Given the description of an element on the screen output the (x, y) to click on. 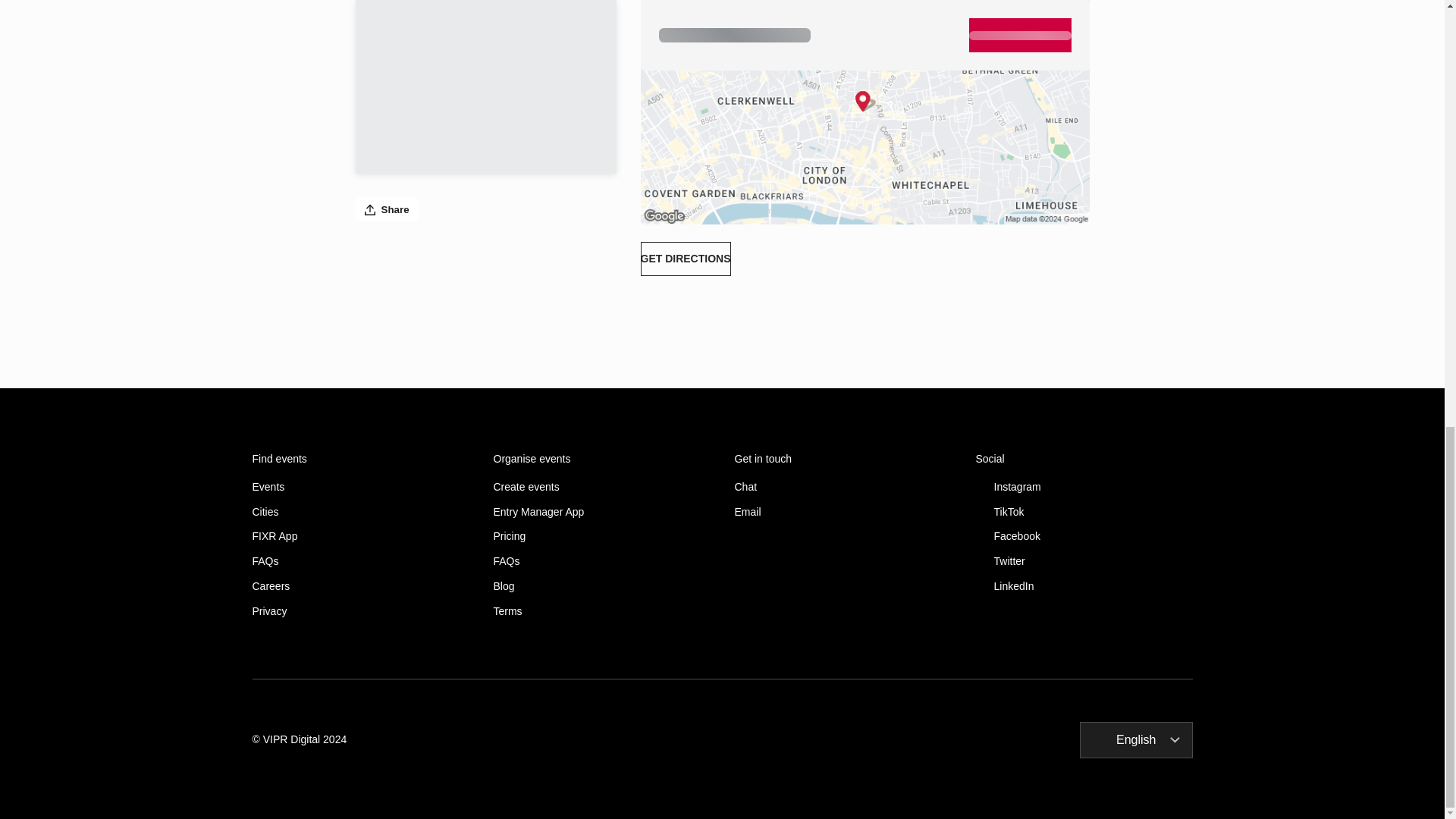
Privacy (359, 611)
FIXR App (359, 535)
LinkedIn (1083, 585)
Pricing (601, 535)
Terms (601, 611)
Entry Manager App (601, 512)
Email (841, 512)
GET DIRECTIONS (685, 258)
Create events (601, 486)
Chat (841, 486)
